Given the description of an element on the screen output the (x, y) to click on. 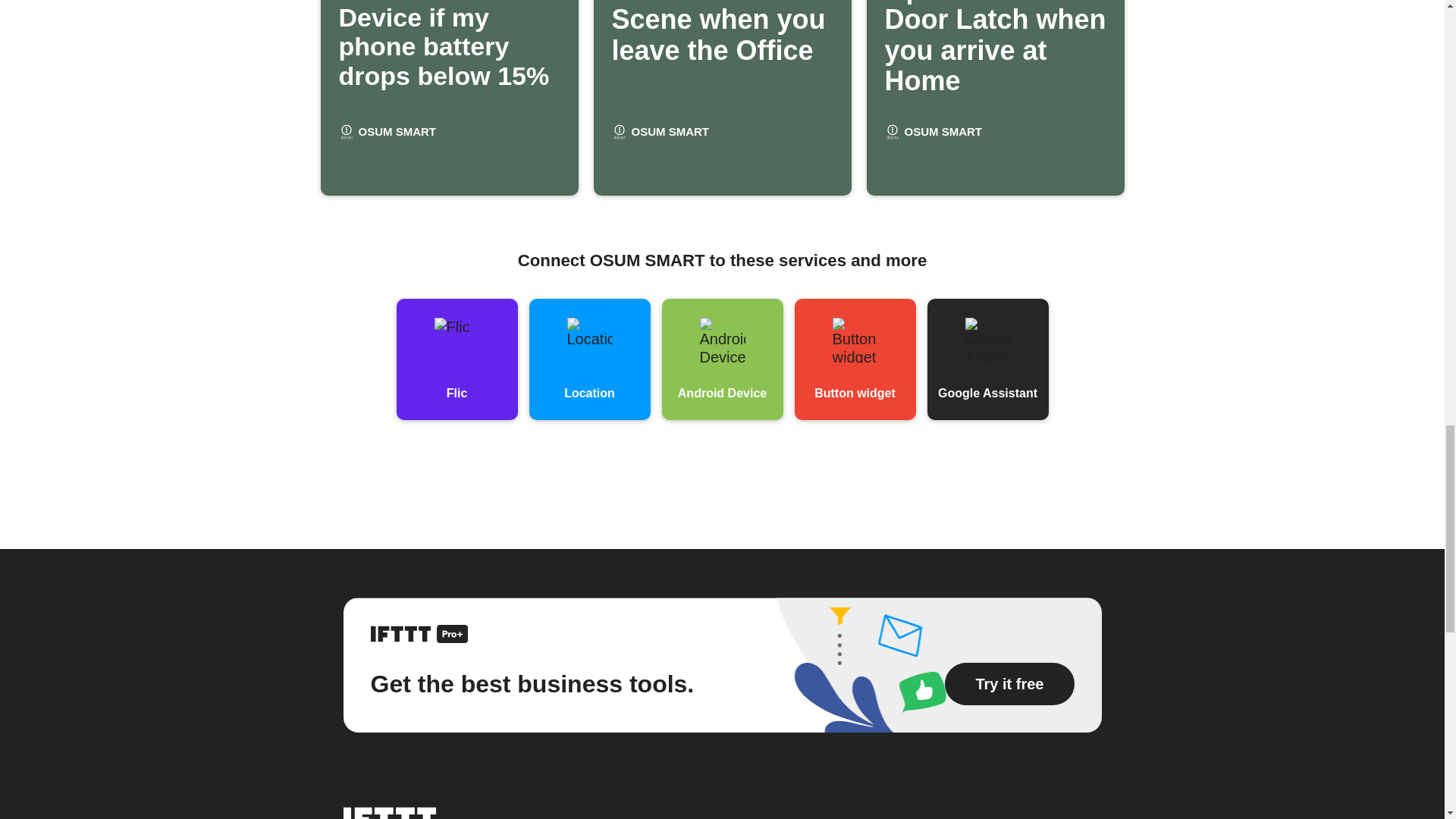
Android Device (722, 359)
Flic (456, 359)
Button widget (854, 359)
Google Assistant (987, 359)
Location (721, 665)
